Given the description of an element on the screen output the (x, y) to click on. 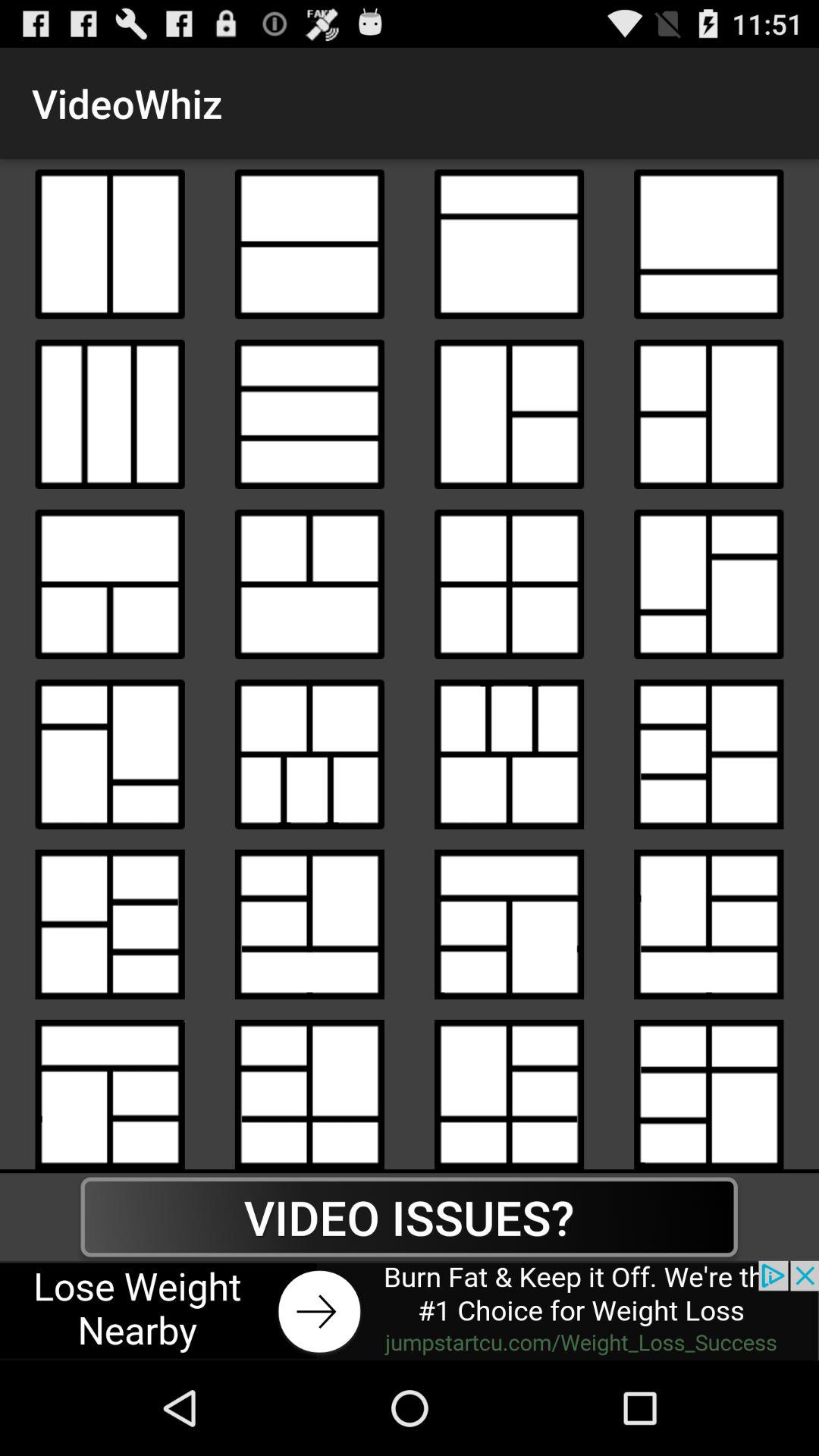
select object (309, 244)
